Given the description of an element on the screen output the (x, y) to click on. 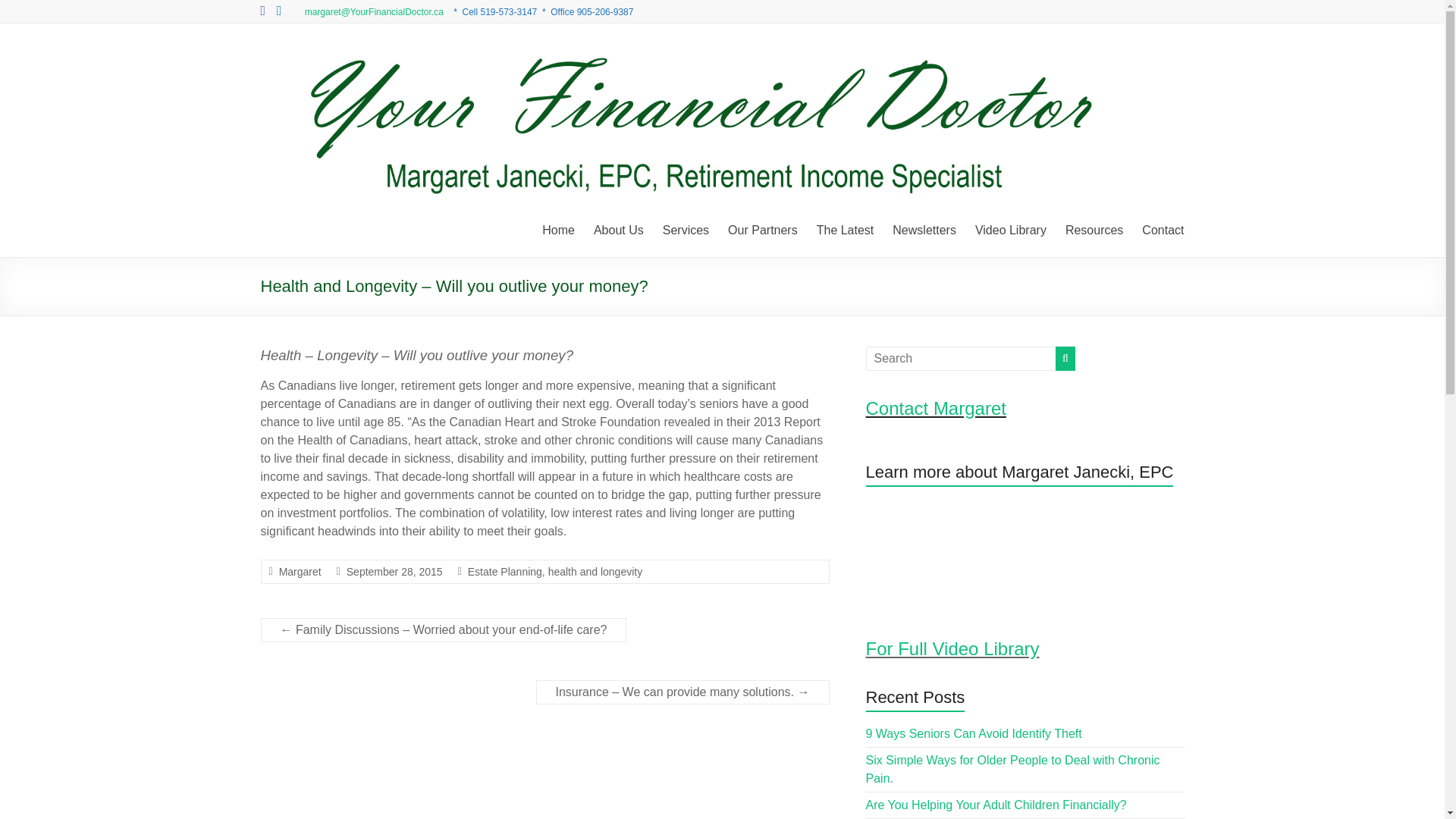
Services (685, 230)
Your Financial Doctor (310, 83)
Contact Margaret (1162, 230)
The Latest (845, 230)
Video Library (1010, 230)
Contact (1162, 230)
Contact Margaret (936, 408)
About Us (618, 230)
The Latest  (845, 230)
Margaret (300, 571)
